Given the description of an element on the screen output the (x, y) to click on. 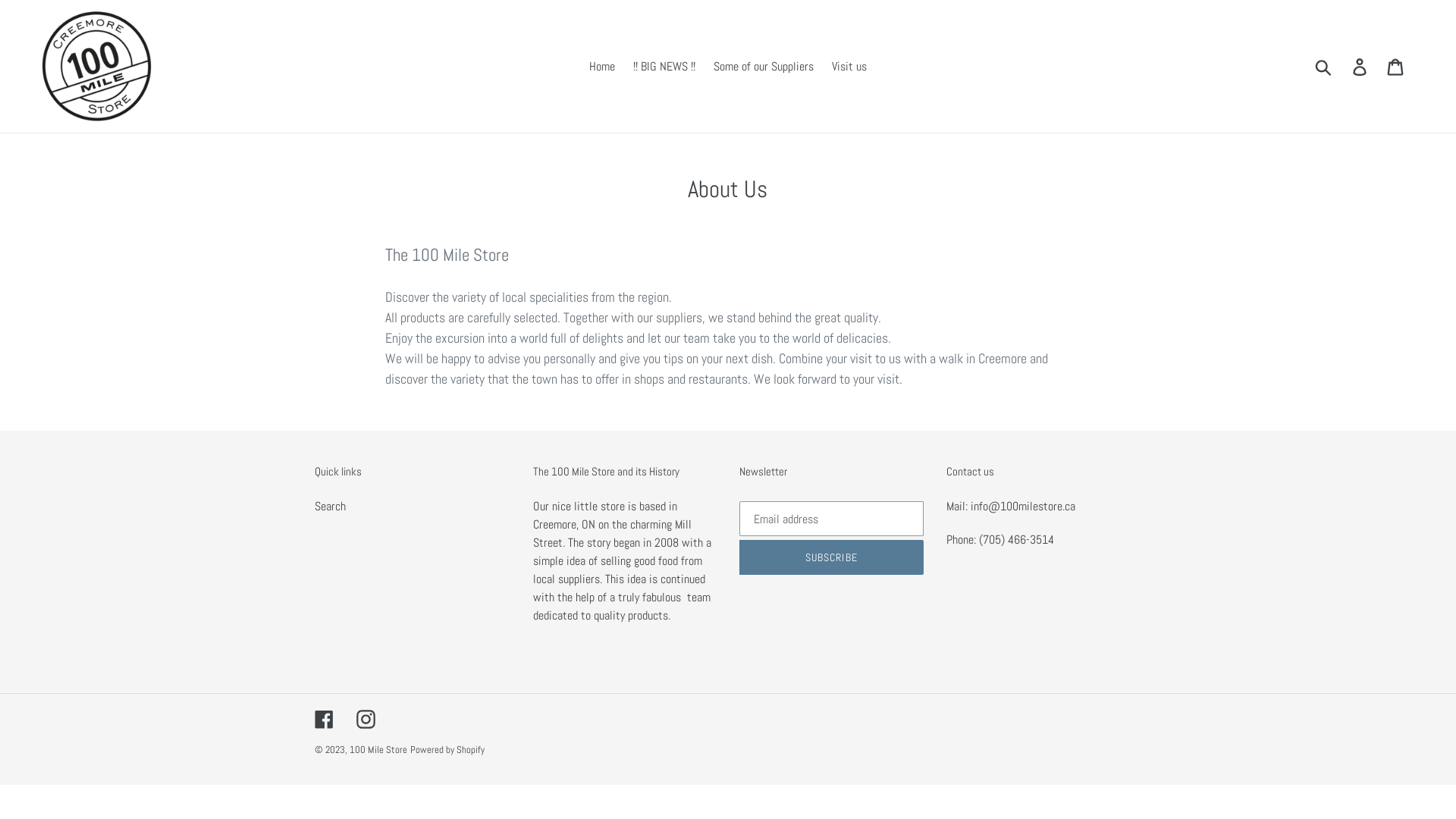
100 Mile Store Element type: text (378, 749)
Instagram Element type: text (365, 718)
Home Element type: text (601, 65)
Some of our Suppliers Element type: text (763, 65)
Cart Element type: text (1396, 65)
!! BIG NEWS !! Element type: text (663, 65)
Submit Element type: text (1324, 65)
Search Element type: text (329, 506)
Powered by Shopify Element type: text (447, 749)
SUBSCRIBE Element type: text (831, 556)
Visit us Element type: text (849, 65)
Log in Element type: text (1360, 65)
Facebook Element type: text (323, 718)
